Given the description of an element on the screen output the (x, y) to click on. 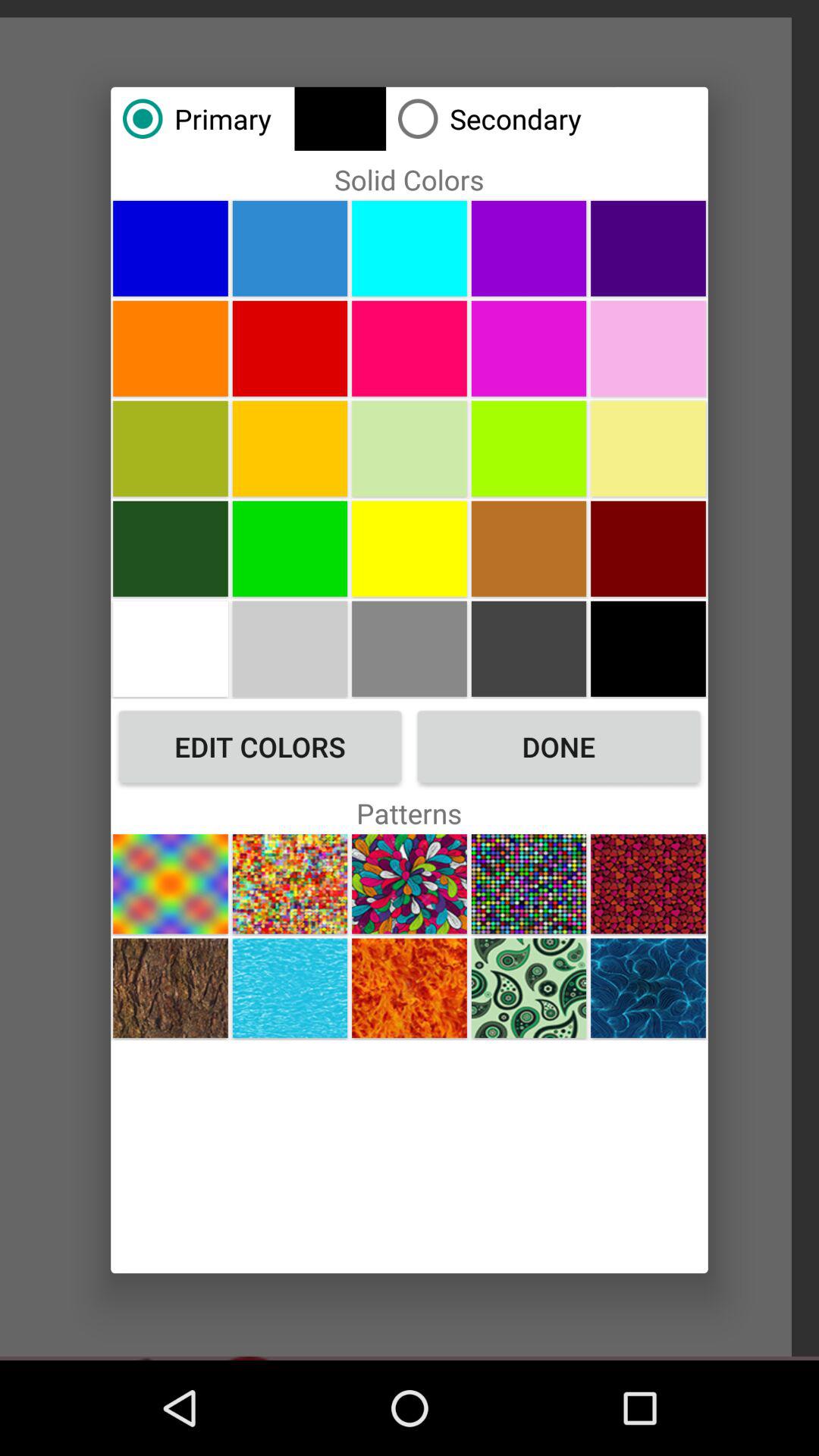
select color (528, 248)
